Given the description of an element on the screen output the (x, y) to click on. 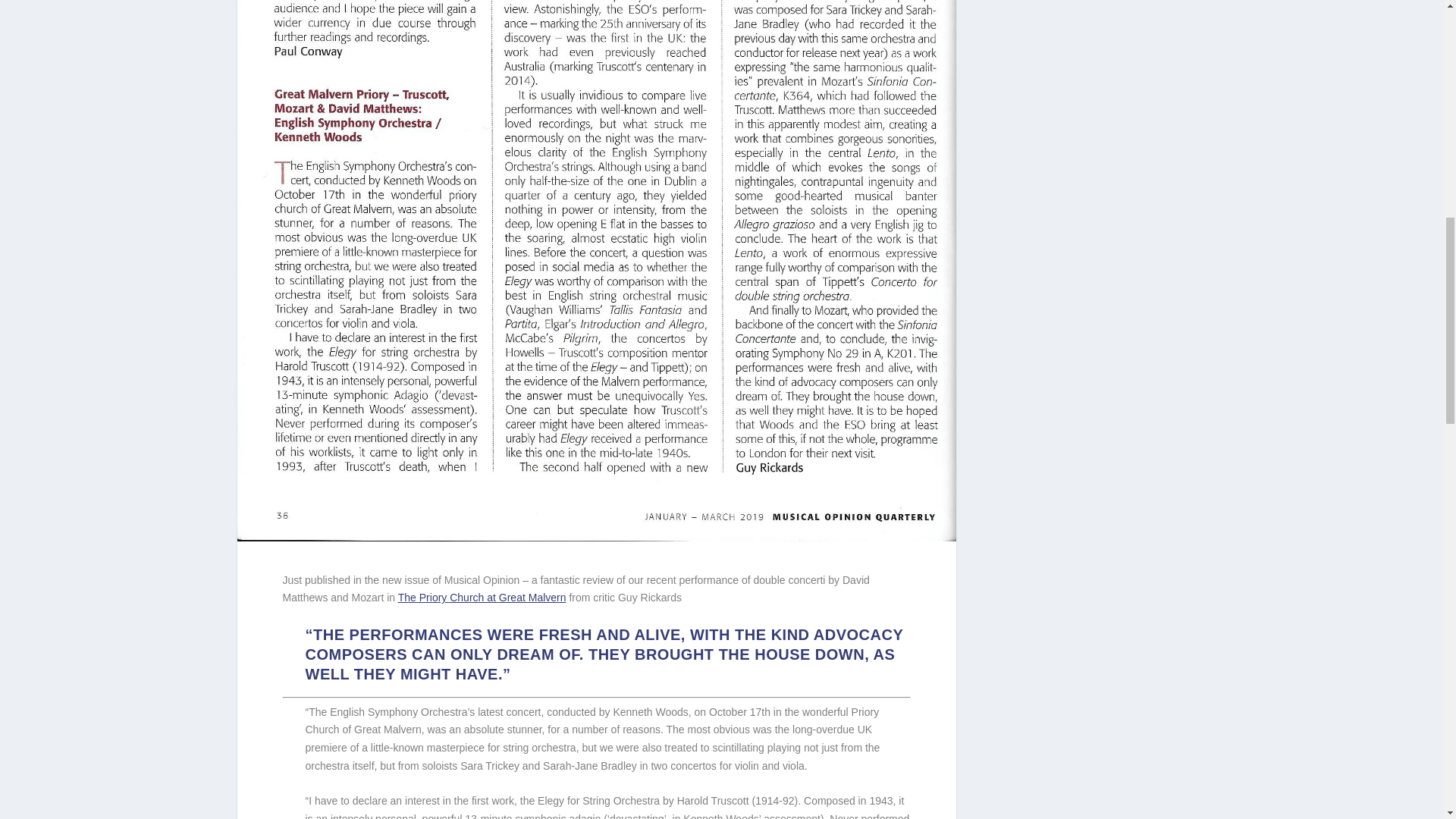
The Priory Church at Great Malvern (481, 597)
